Given the description of an element on the screen output the (x, y) to click on. 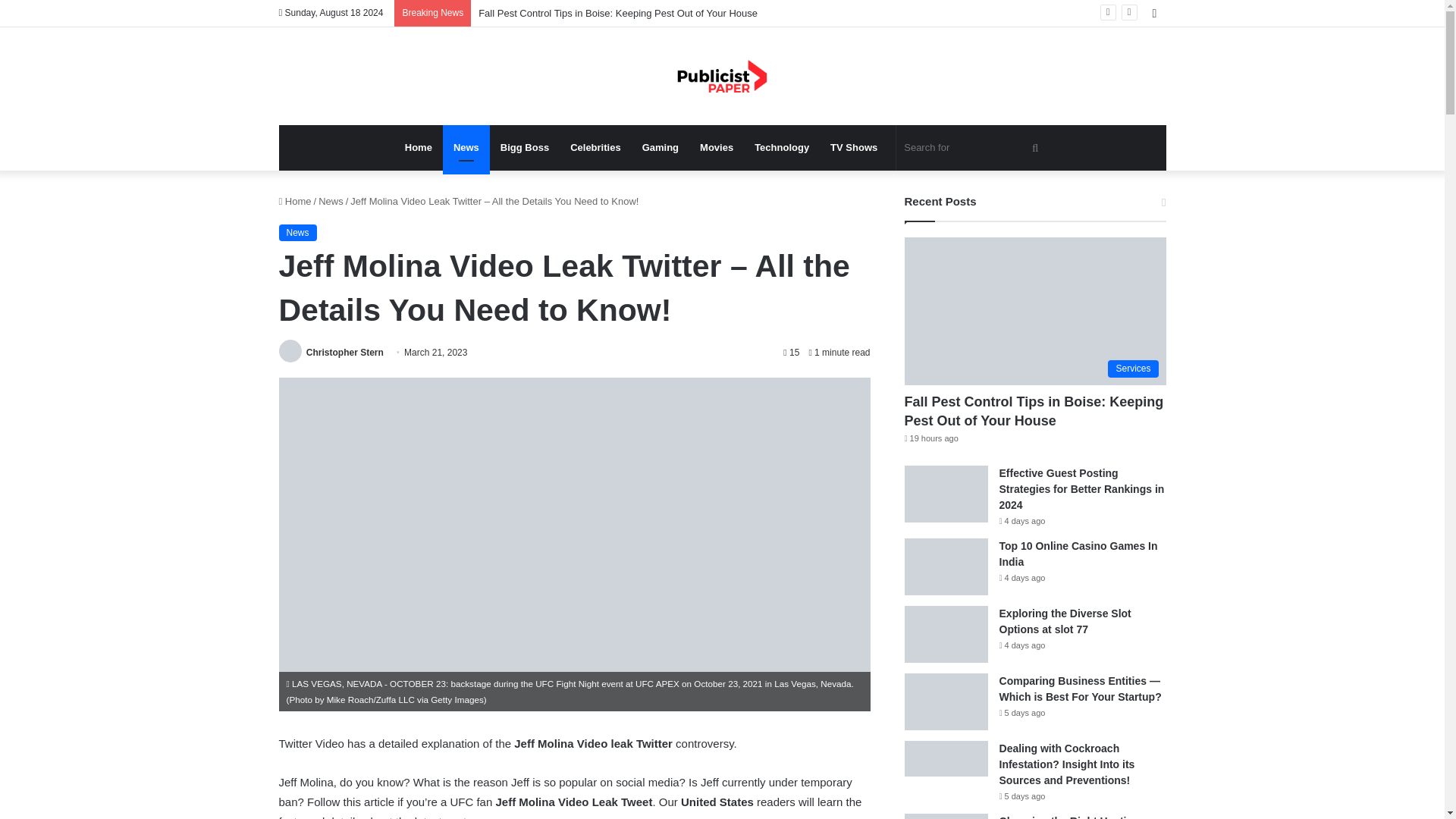
Technology (781, 147)
Celebrities (594, 147)
News (330, 201)
Christopher Stern (344, 352)
Christopher Stern (344, 352)
Publicist Paper (721, 76)
Bigg Boss (524, 147)
News (465, 147)
Movies (716, 147)
Search for (972, 147)
